Given the description of an element on the screen output the (x, y) to click on. 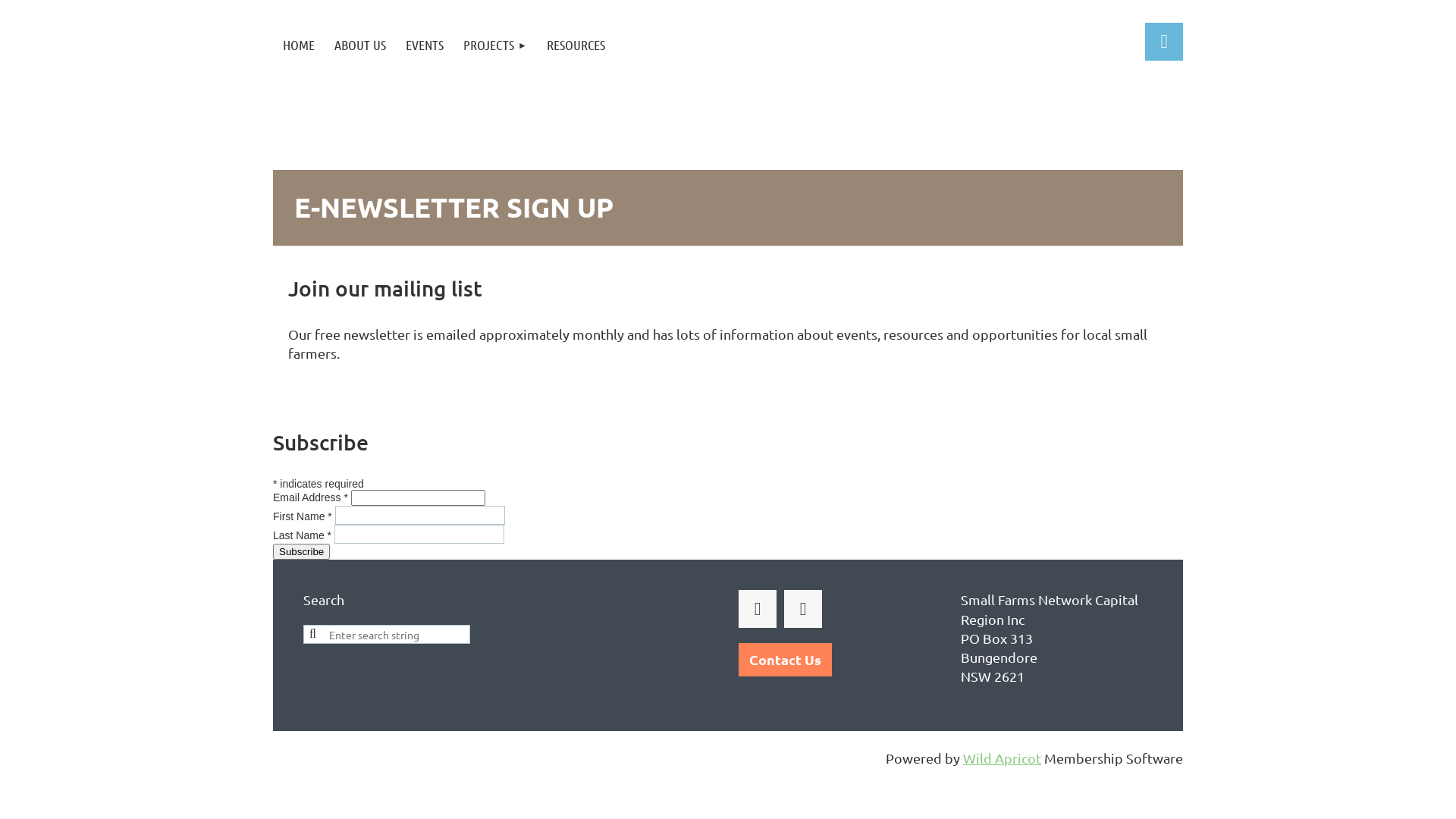
Log in Element type: text (1164, 41)
PROJECTS Element type: text (494, 45)
EVENTS Element type: text (424, 45)
ABOUT US Element type: text (359, 45)
YouTube Element type: hover (803, 608)
Wild Apricot Element type: text (1002, 757)
Facebook Element type: hover (757, 608)
Subscribe Element type: text (301, 551)
Contact Us Element type: text (784, 659)
HOME Element type: text (298, 45)
RESOURCES Element type: text (575, 45)
